Given the description of an element on the screen output the (x, y) to click on. 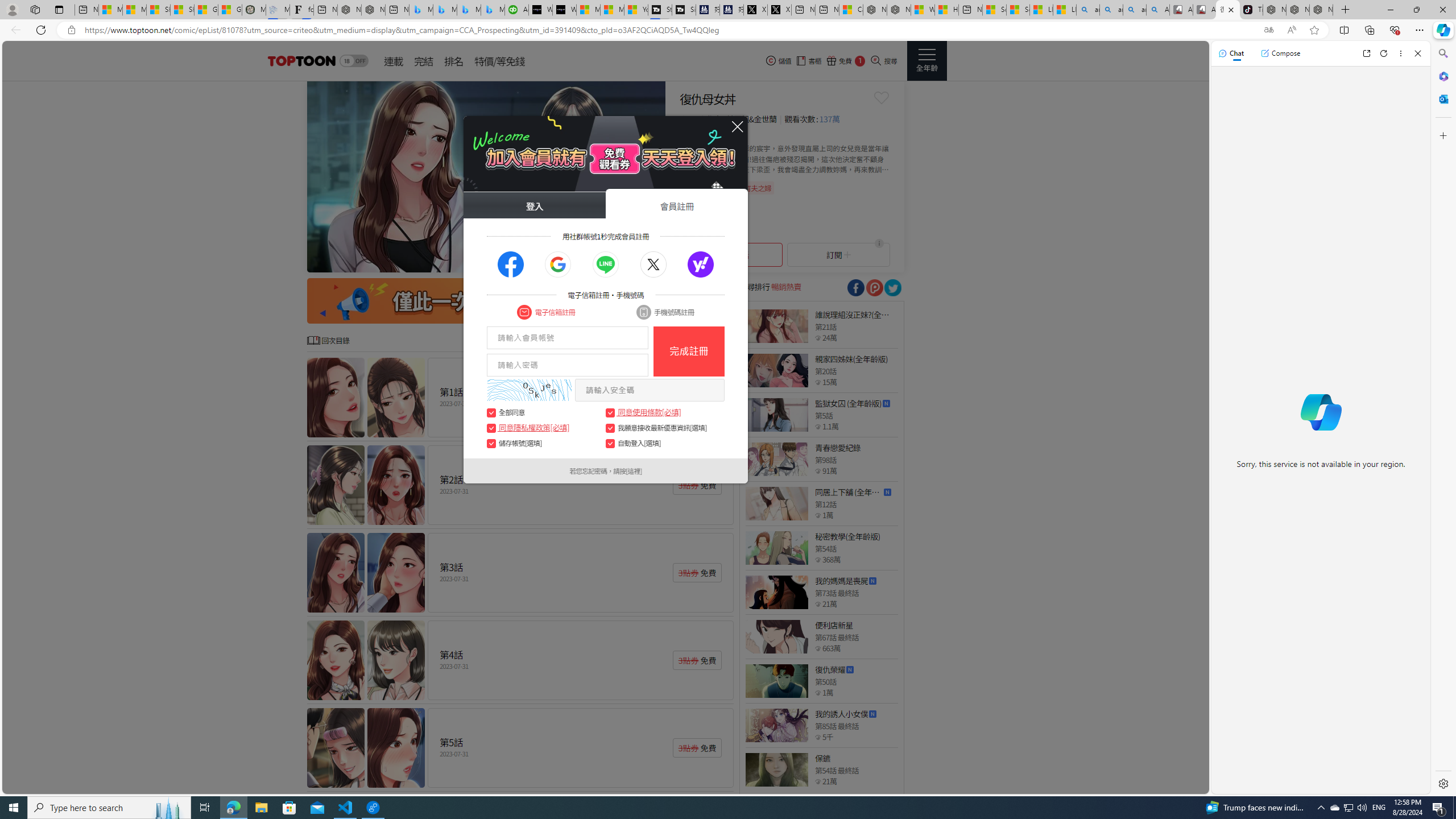
Nordace - Best Sellers (1274, 9)
Class: epicon_starpoint (818, 781)
Outlook (1442, 98)
